Given the description of an element on the screen output the (x, y) to click on. 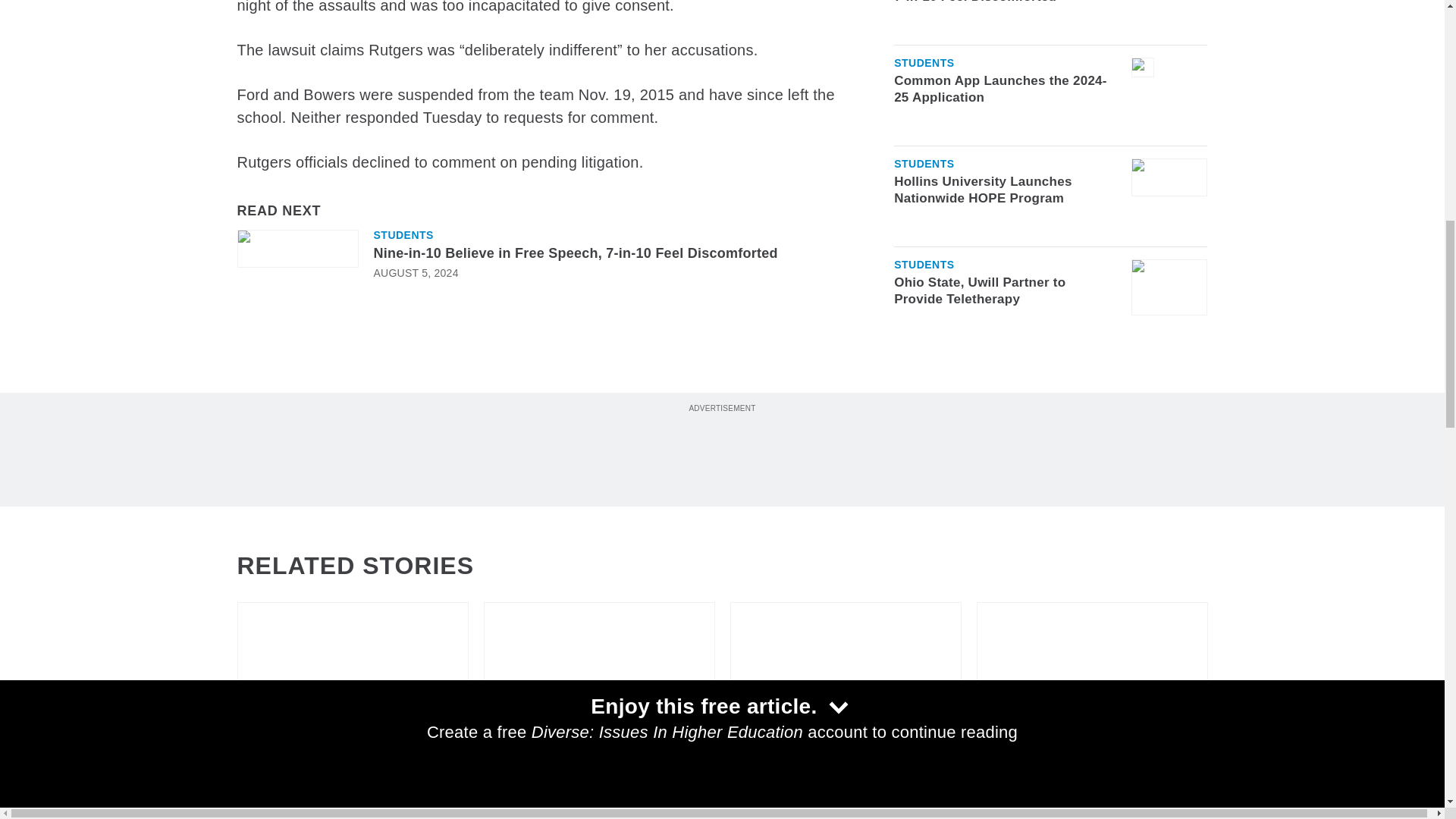
Students (923, 159)
Students (513, 771)
Students (923, 260)
Students (266, 771)
Students (923, 59)
Students (402, 235)
